Given the description of an element on the screen output the (x, y) to click on. 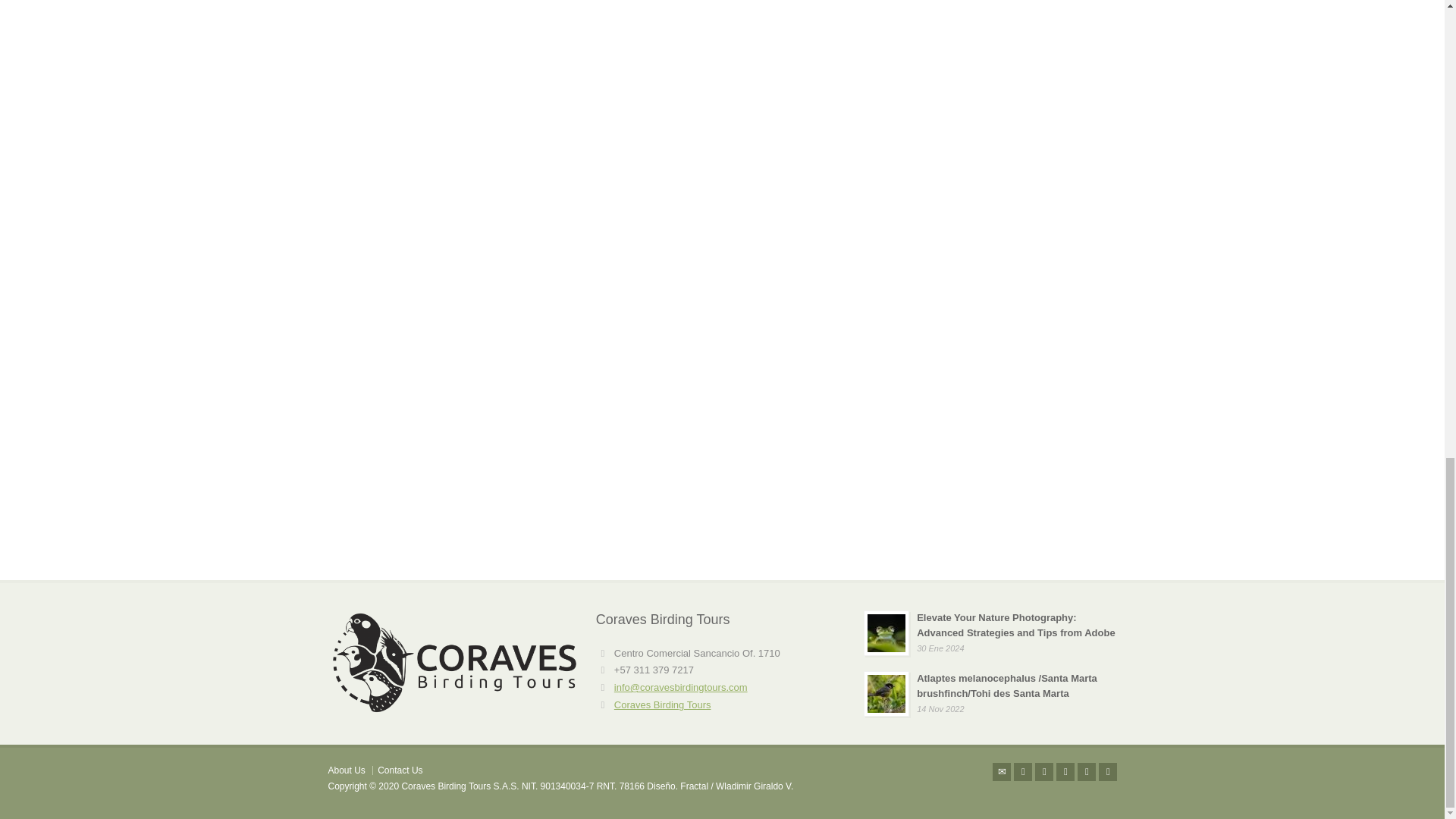
Coraves Birding Tours (662, 704)
Email (1000, 771)
Twitter (1021, 771)
Contact Us (399, 769)
Coraves Birding Tours (662, 704)
About Us (346, 769)
Facebook (1042, 771)
